Given the description of an element on the screen output the (x, y) to click on. 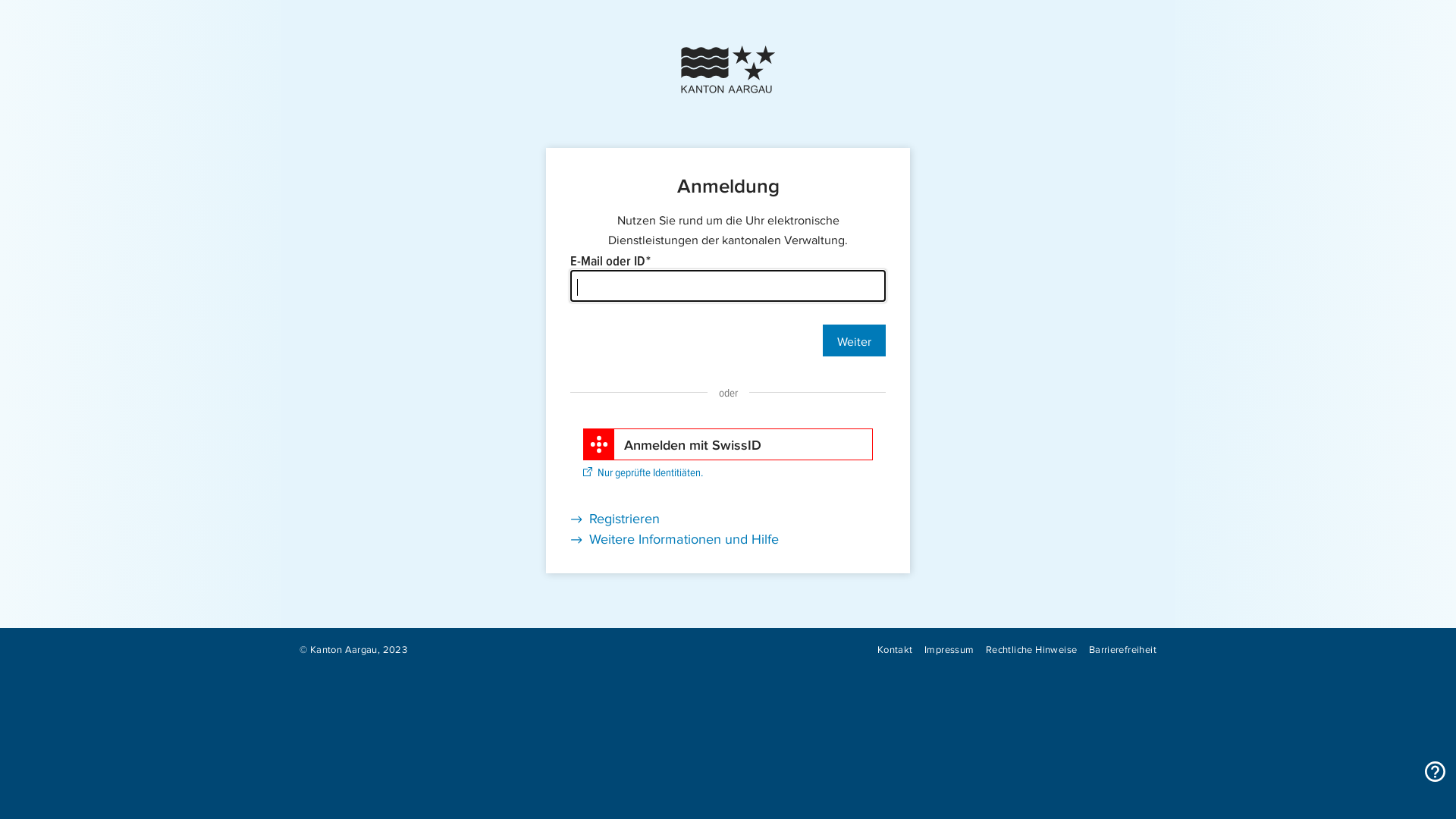
Weitere Informationen und Hilfe Element type: text (674, 537)
Impressum Element type: text (949, 648)
Kanton Aargau Logo Element type: text (727, 69)
Registrieren Element type: text (614, 517)
Barrierefreiheit Element type: text (1122, 648)
Kontakt Element type: text (895, 648)
Weiter Element type: text (853, 340)
Anmelden mit SwissID Element type: text (728, 444)
Rechtliche Hinweise Element type: text (1030, 648)
